Given the description of an element on the screen output the (x, y) to click on. 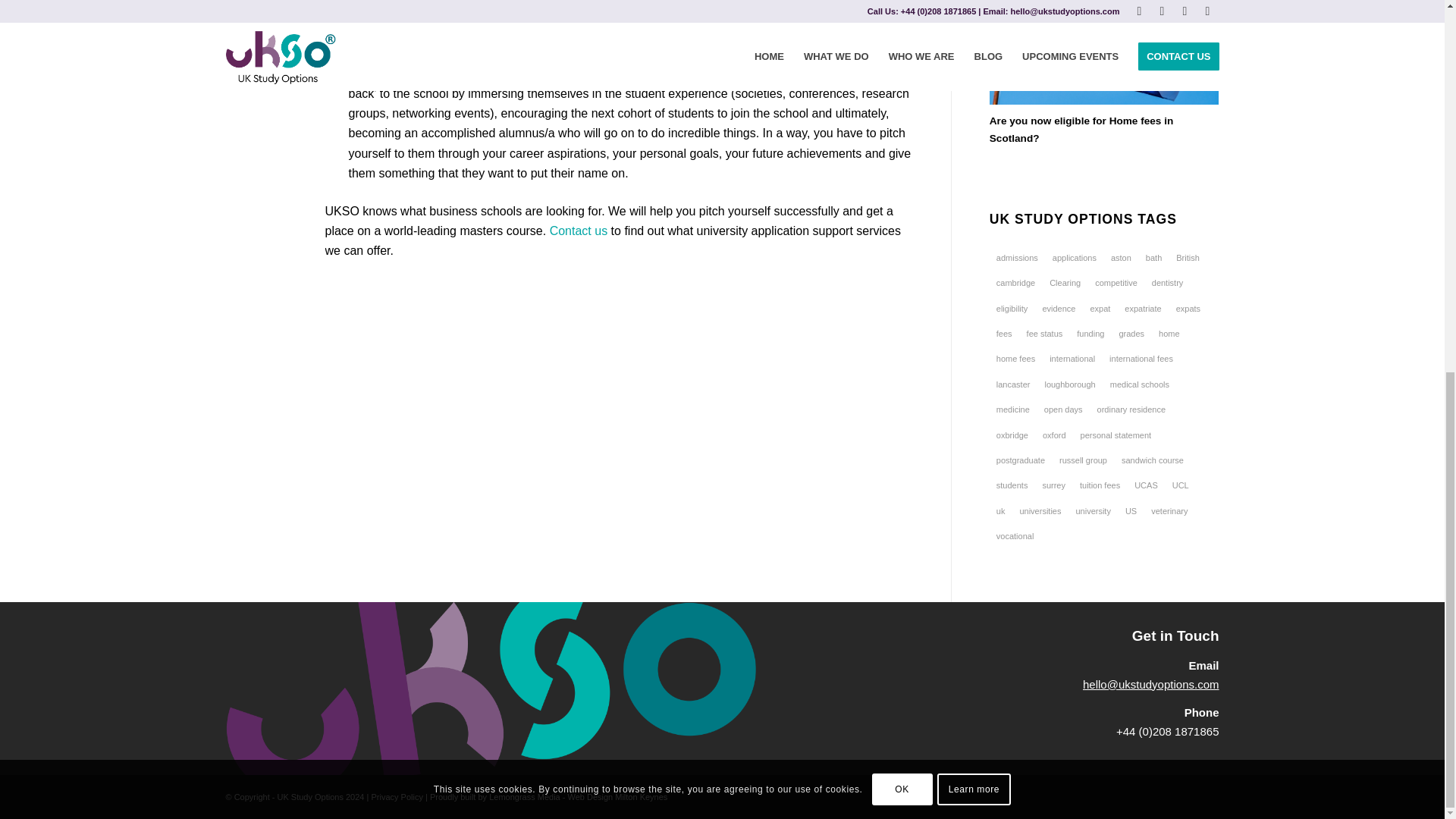
Clearing (1064, 282)
bath (1153, 257)
applications (1074, 257)
competitive (1115, 282)
aston (1120, 257)
Contact us (578, 230)
evidence (1058, 308)
eligibility (1012, 308)
